Given the description of an element on the screen output the (x, y) to click on. 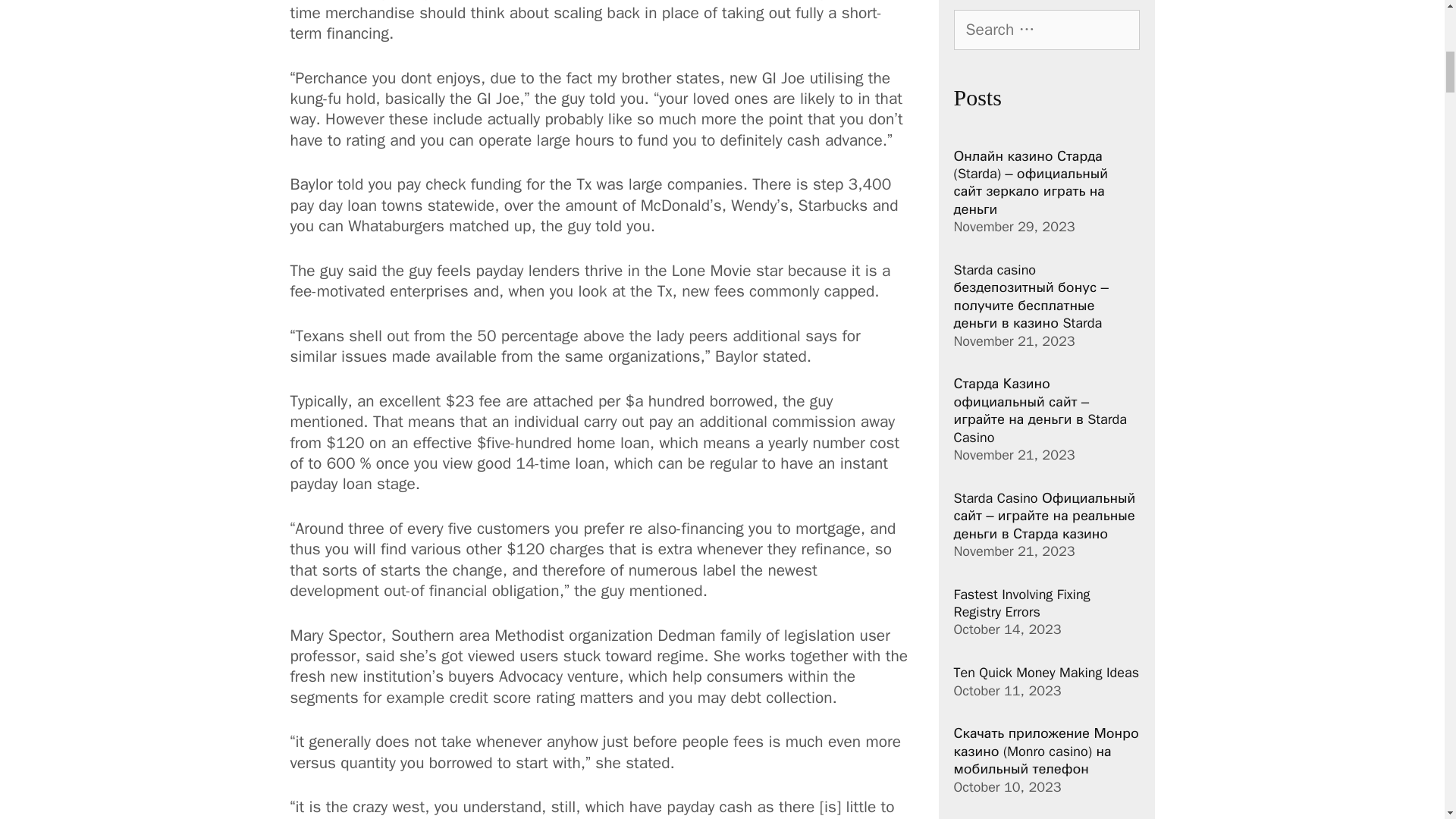
Search for: (1046, 29)
Ten Quick Money Making Ideas (1046, 672)
Fastest Involving Fixing Registry Errors (1021, 602)
